Given the description of an element on the screen output the (x, y) to click on. 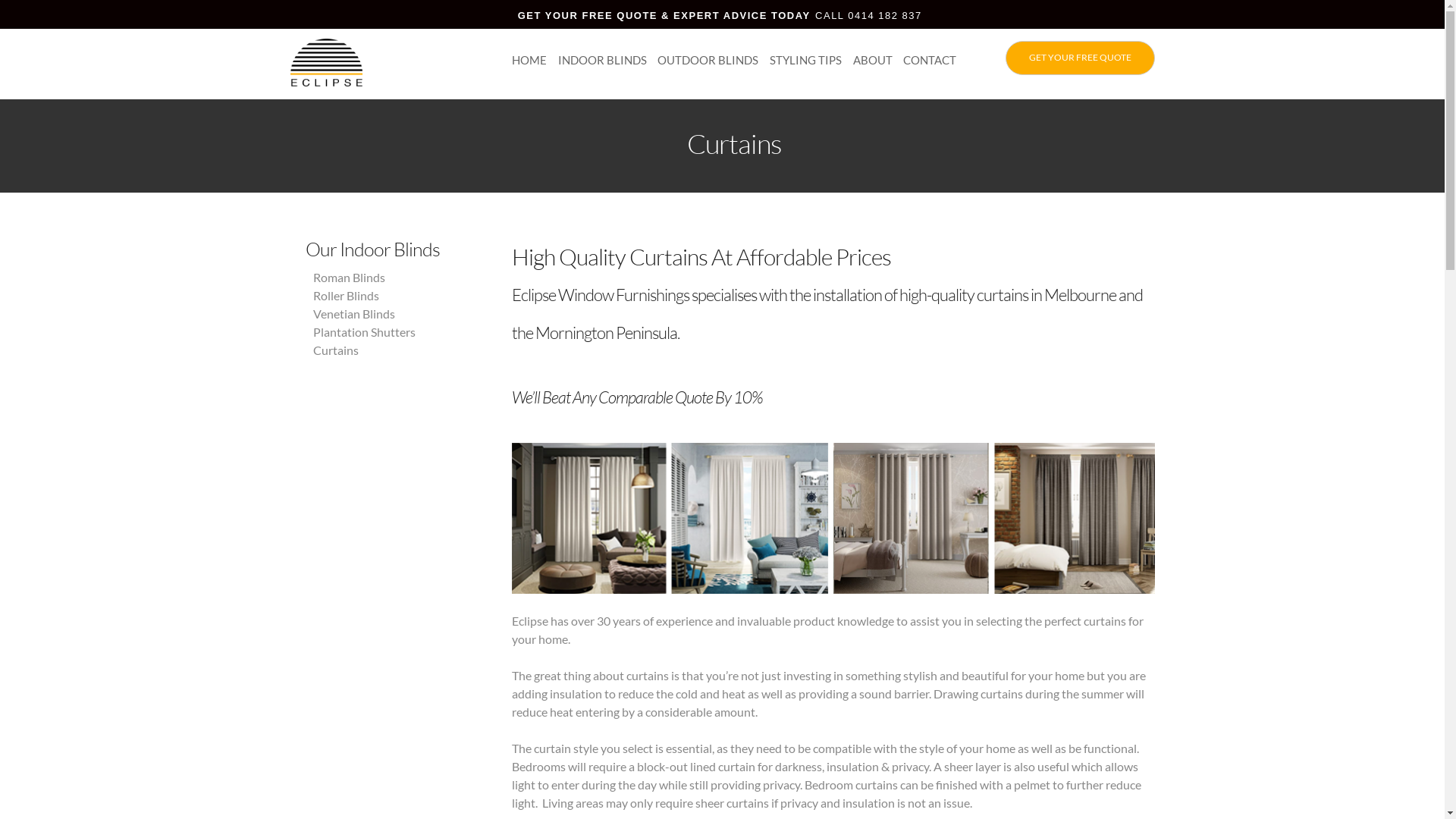
GET YOUR FREE QUOTE Element type: text (1079, 57)
Plantation Shutters Element type: text (363, 331)
CALL 0414 182 837 Element type: text (868, 15)
STYLING TIPS Element type: text (805, 59)
INDOOR BLINDS Element type: text (602, 59)
HOME Element type: text (528, 59)
Roller Blinds Element type: text (345, 295)
ABOUT Element type: text (872, 59)
OUTDOOR BLINDS Element type: text (707, 59)
CONTACT Element type: text (929, 59)
Roman Blinds Element type: text (348, 276)
Venetian Blinds Element type: text (353, 313)
Curtains Element type: text (334, 349)
